Given the description of an element on the screen output the (x, y) to click on. 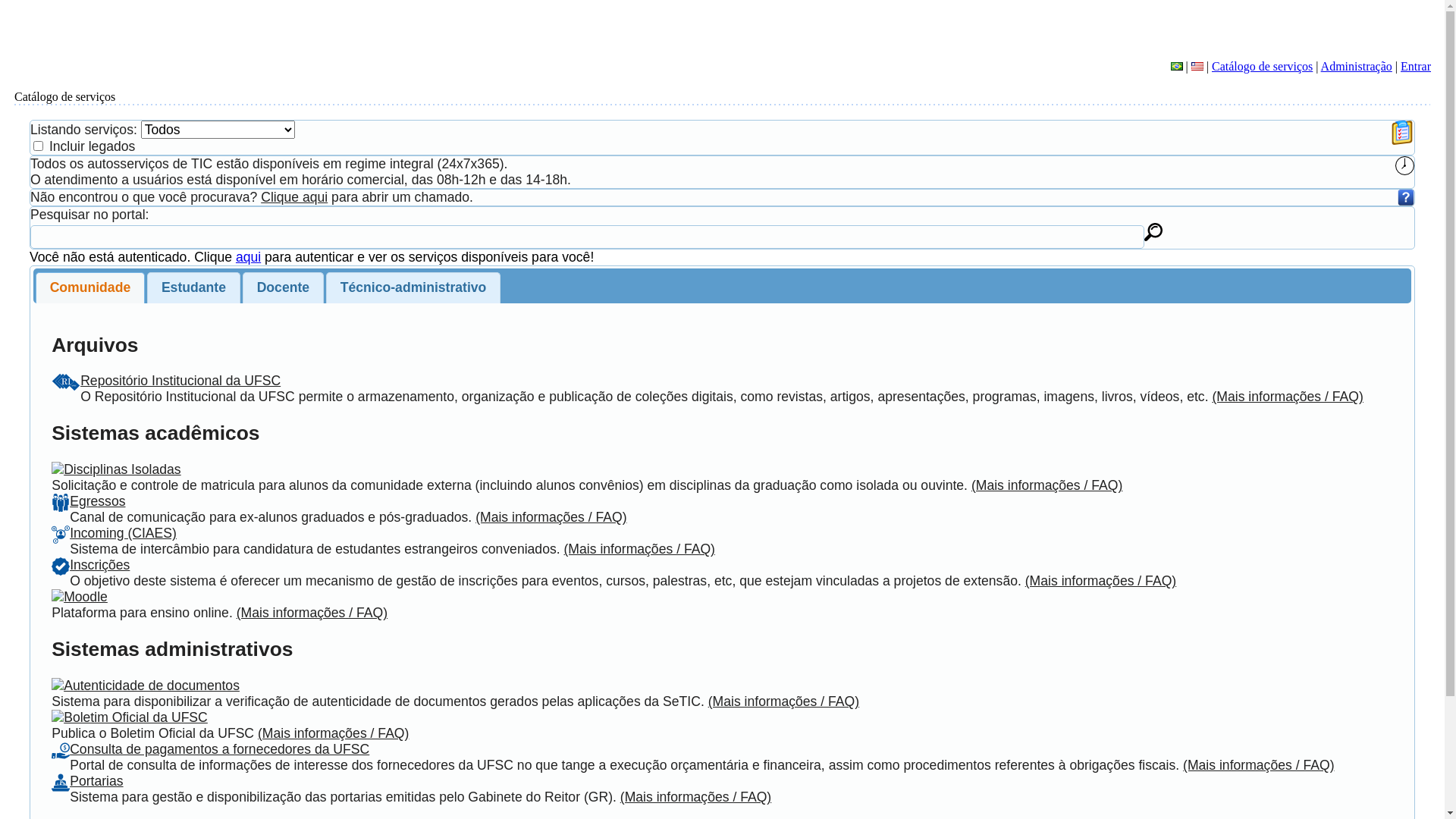
Clique aqui Element type: text (293, 196)
Disciplinas Isoladas Element type: text (122, 468)
Incoming (CIAES) Element type: text (122, 532)
Moodle Element type: text (85, 596)
See catalog in English Element type: hover (1197, 66)
Boletim Oficial da UFSC Element type: text (135, 716)
Consulta de pagamentos a fornecedores da UFSC Element type: text (219, 748)
Autenticidade de documentos Element type: text (151, 685)
Docente Element type: text (283, 288)
Estudante Element type: text (192, 288)
Egressos Element type: text (97, 500)
Comunidade Element type: text (90, 288)
aqui Element type: text (247, 256)
Portarias Element type: text (95, 780)
Entrar Element type: text (1415, 65)
